Given the description of an element on the screen output the (x, y) to click on. 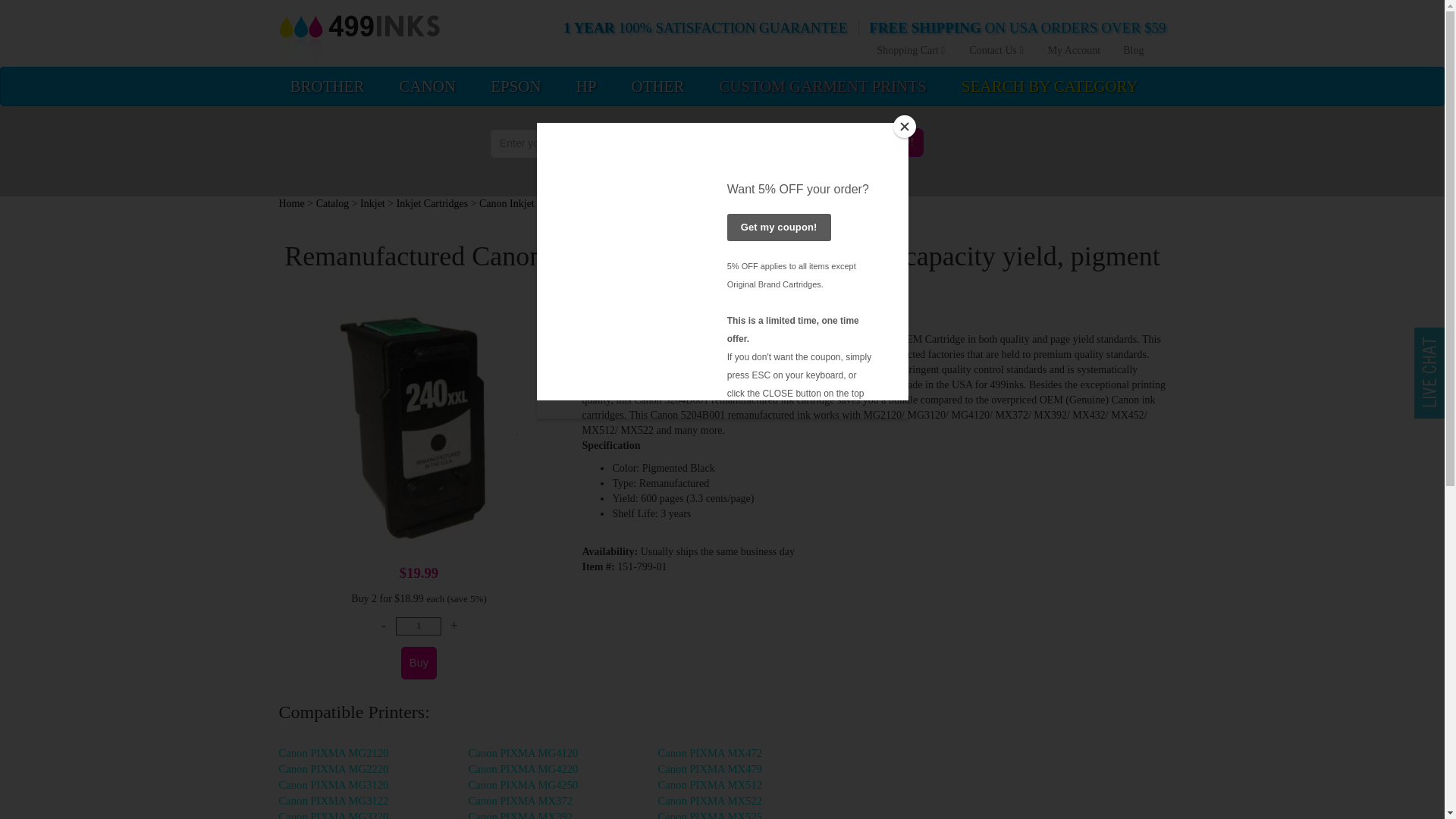
OTHER (657, 86)
- (383, 626)
Canon PIXMA MG4250 (523, 784)
Shopping Cart (911, 51)
SEARCH BY CATEGORY (1050, 86)
Canon PIXMA MX392 (520, 814)
My Account (1074, 51)
Canon PIXMA MG3220 (333, 814)
Canon Inkjet Cartridges (529, 203)
Inkjet (372, 203)
Canon PIXMA MG3122 (333, 800)
CUSTOM GARMENT PRINTS (822, 86)
1 (418, 626)
Buy (418, 663)
Home (291, 203)
